Given the description of an element on the screen output the (x, y) to click on. 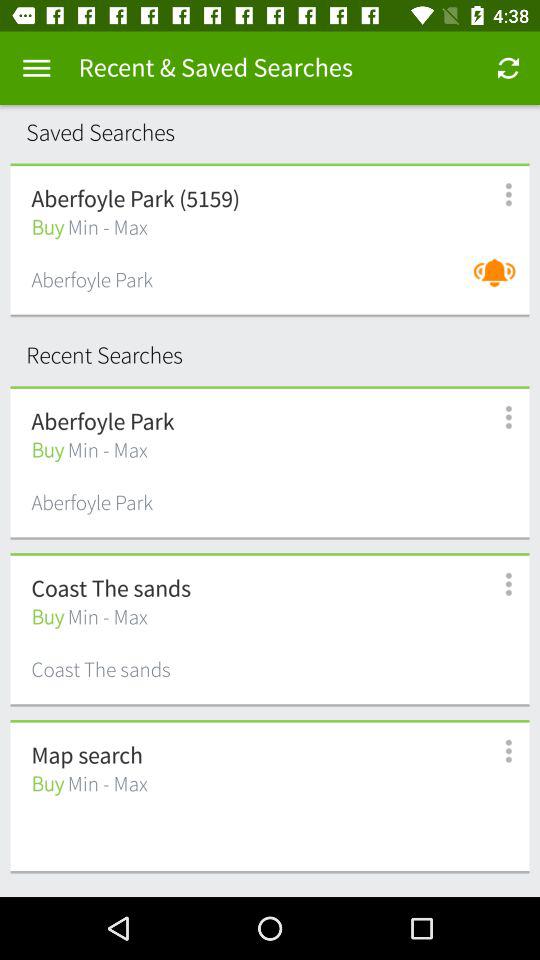
press for more info (497, 751)
